Given the description of an element on the screen output the (x, y) to click on. 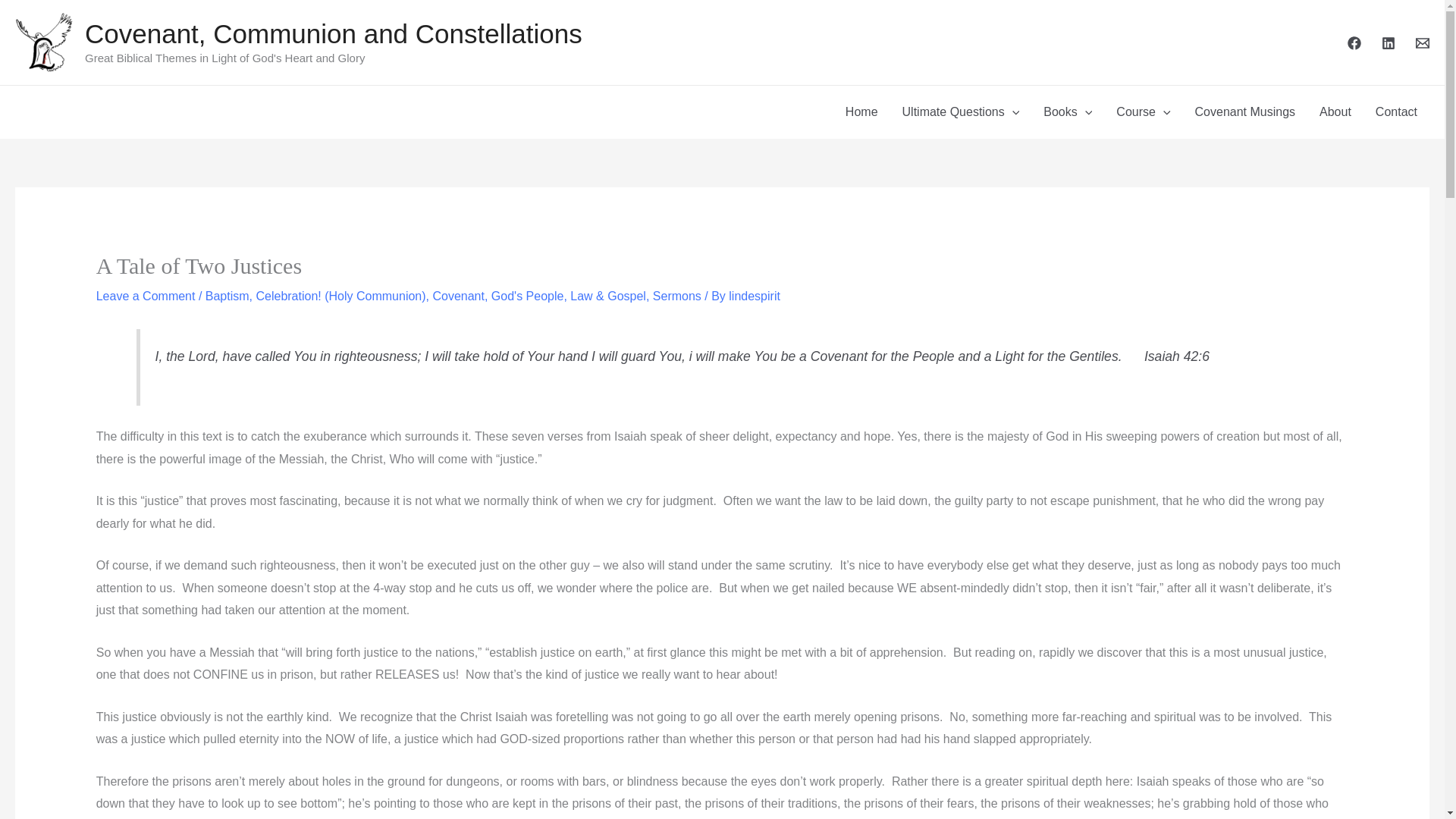
View all posts by lindespirit (754, 295)
Covenant, Communion and Constellations (333, 33)
Ultimate Questions (960, 111)
Books (1066, 111)
About (1334, 111)
Home (860, 111)
Contact (1395, 111)
Covenant Musings (1244, 111)
Course (1142, 111)
